Given the description of an element on the screen output the (x, y) to click on. 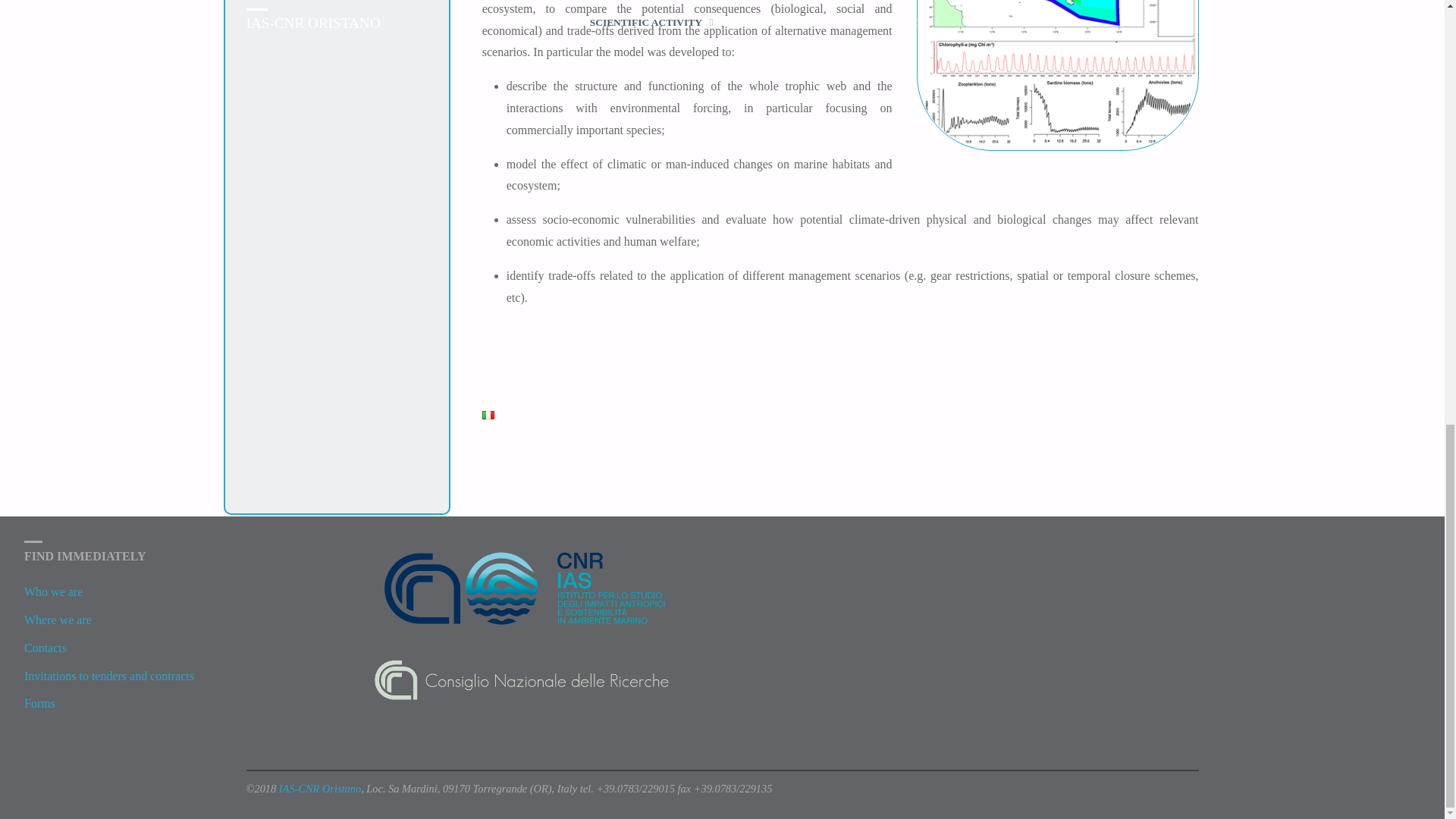
Italiano (488, 415)
